Given the description of an element on the screen output the (x, y) to click on. 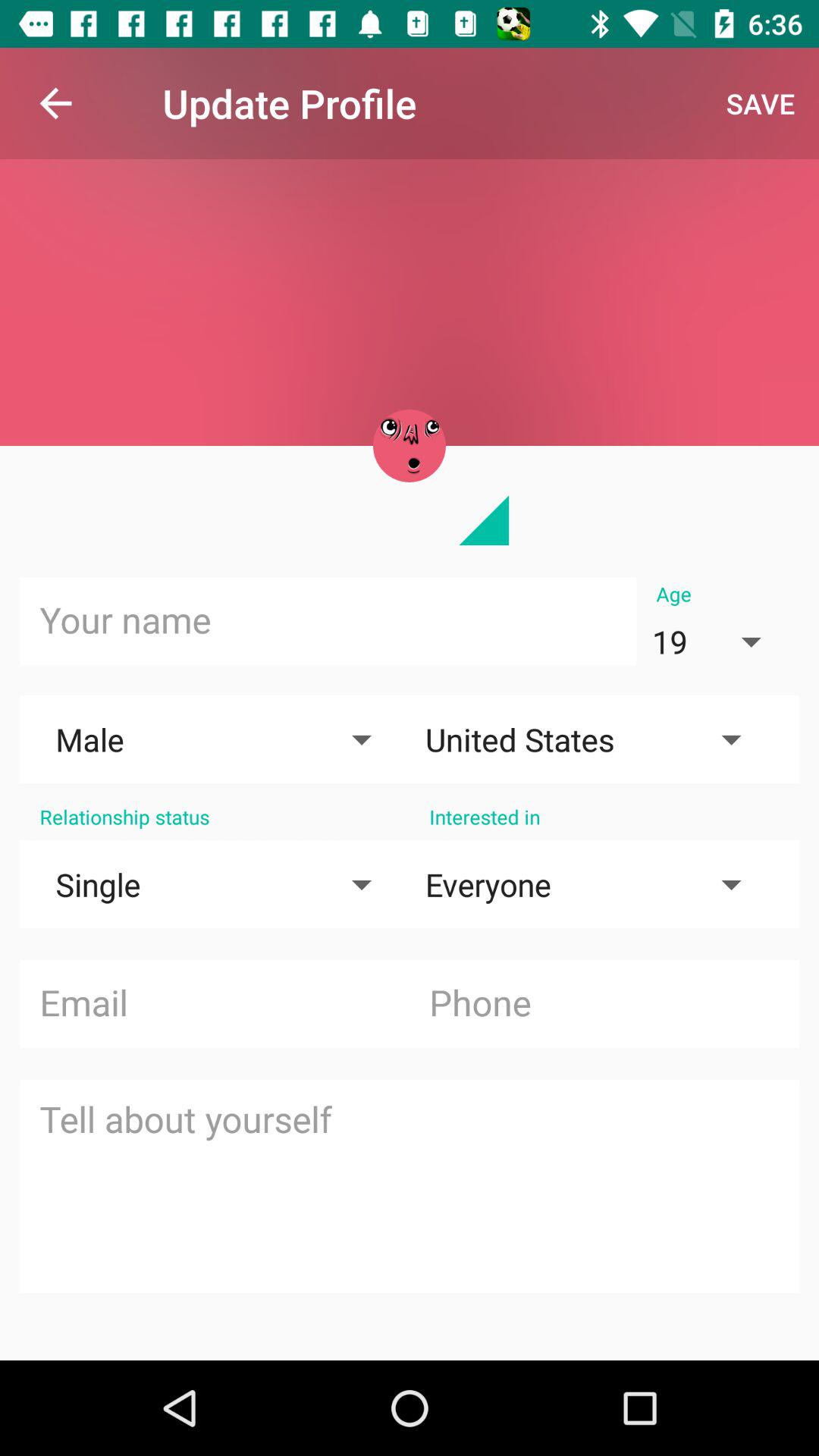
type phone number (604, 1004)
